Given the description of an element on the screen output the (x, y) to click on. 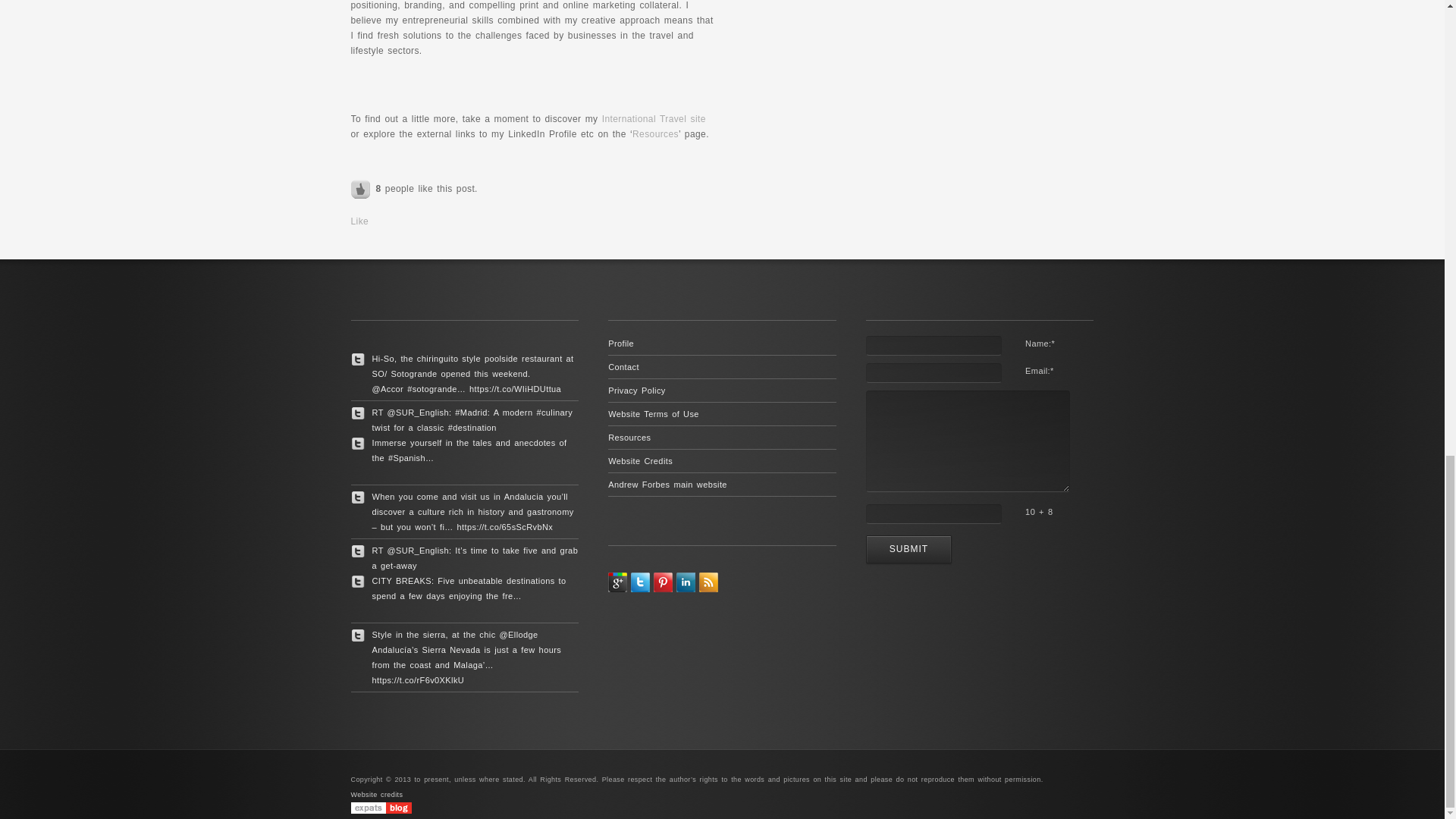
Like (360, 188)
Like (359, 221)
Submit (909, 549)
Privacy Policy (636, 389)
Resources (654, 133)
Expats Blog (380, 808)
Website credits (376, 794)
Website Terms of Use (653, 413)
Andrew Forbes main website (667, 483)
Website Credits (640, 461)
